Given the description of an element on the screen output the (x, y) to click on. 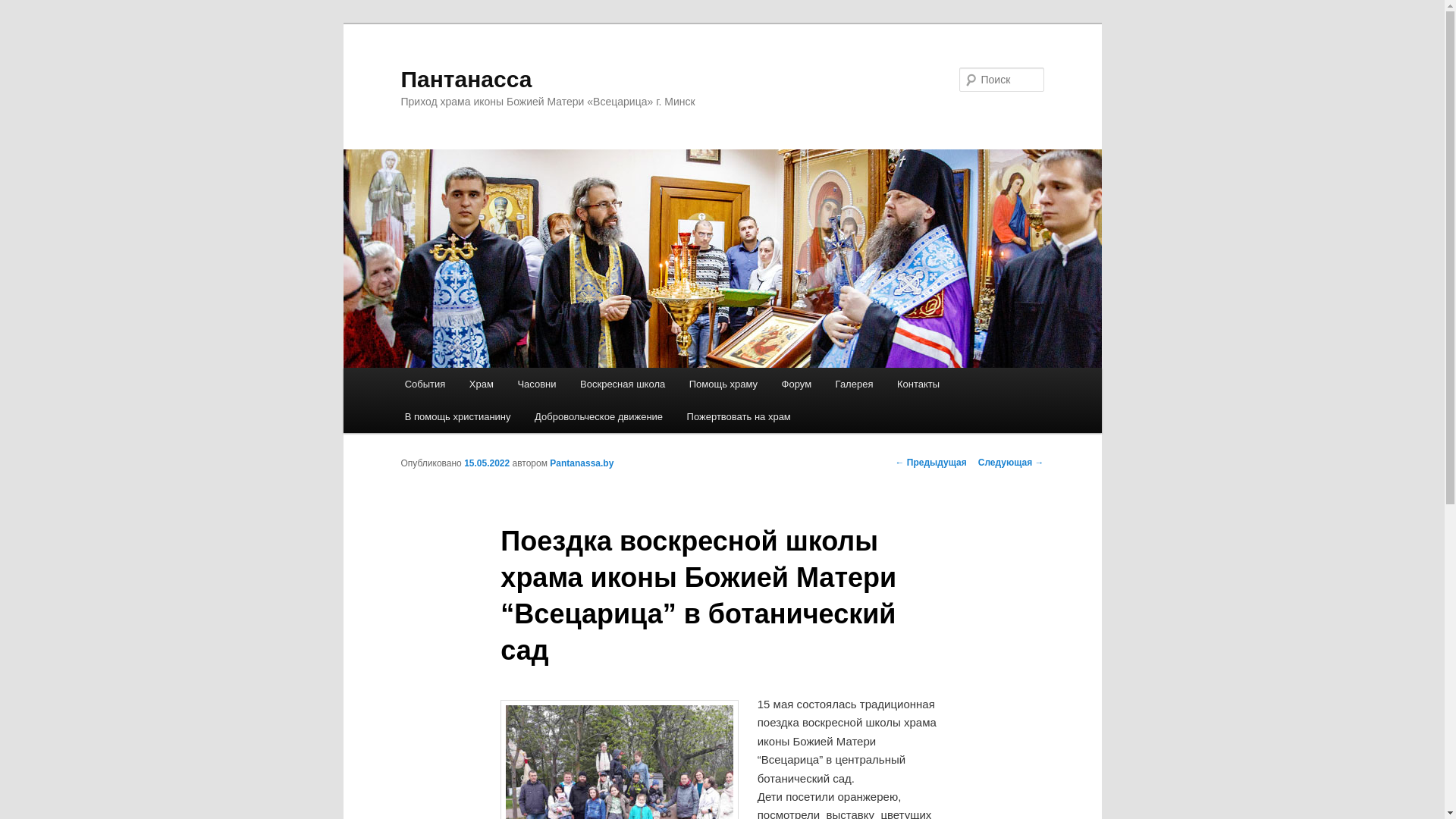
Pantanassa.by Element type: text (581, 463)
15.05.2022 Element type: text (486, 463)
